Given the description of an element on the screen output the (x, y) to click on. 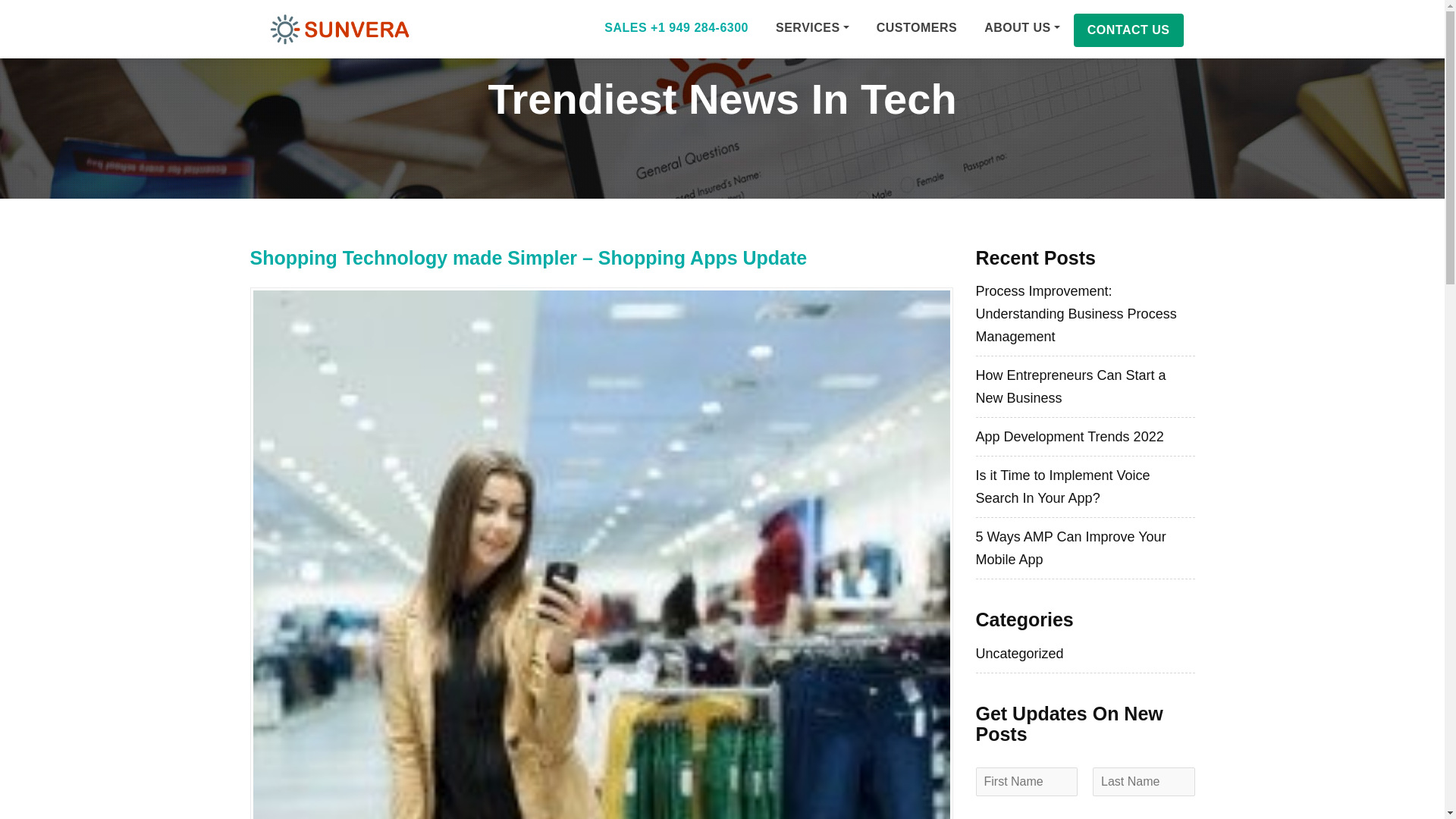
SERVICES (812, 27)
